Given the description of an element on the screen output the (x, y) to click on. 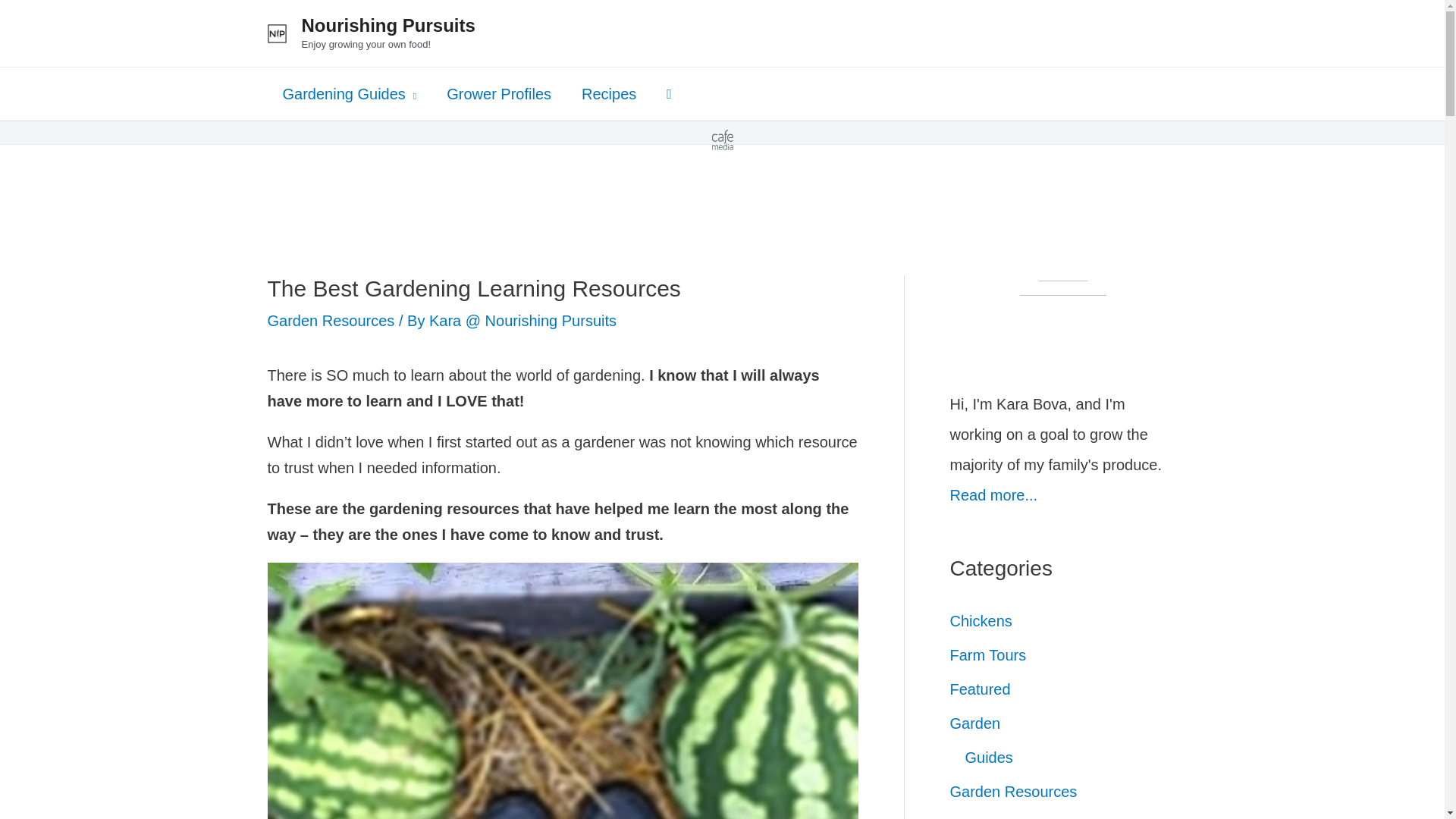
Grower Profiles (498, 93)
Recipes (608, 93)
Garden Resources (330, 320)
Gardening Guides (348, 93)
Nourishing Pursuits (388, 25)
